Given the description of an element on the screen output the (x, y) to click on. 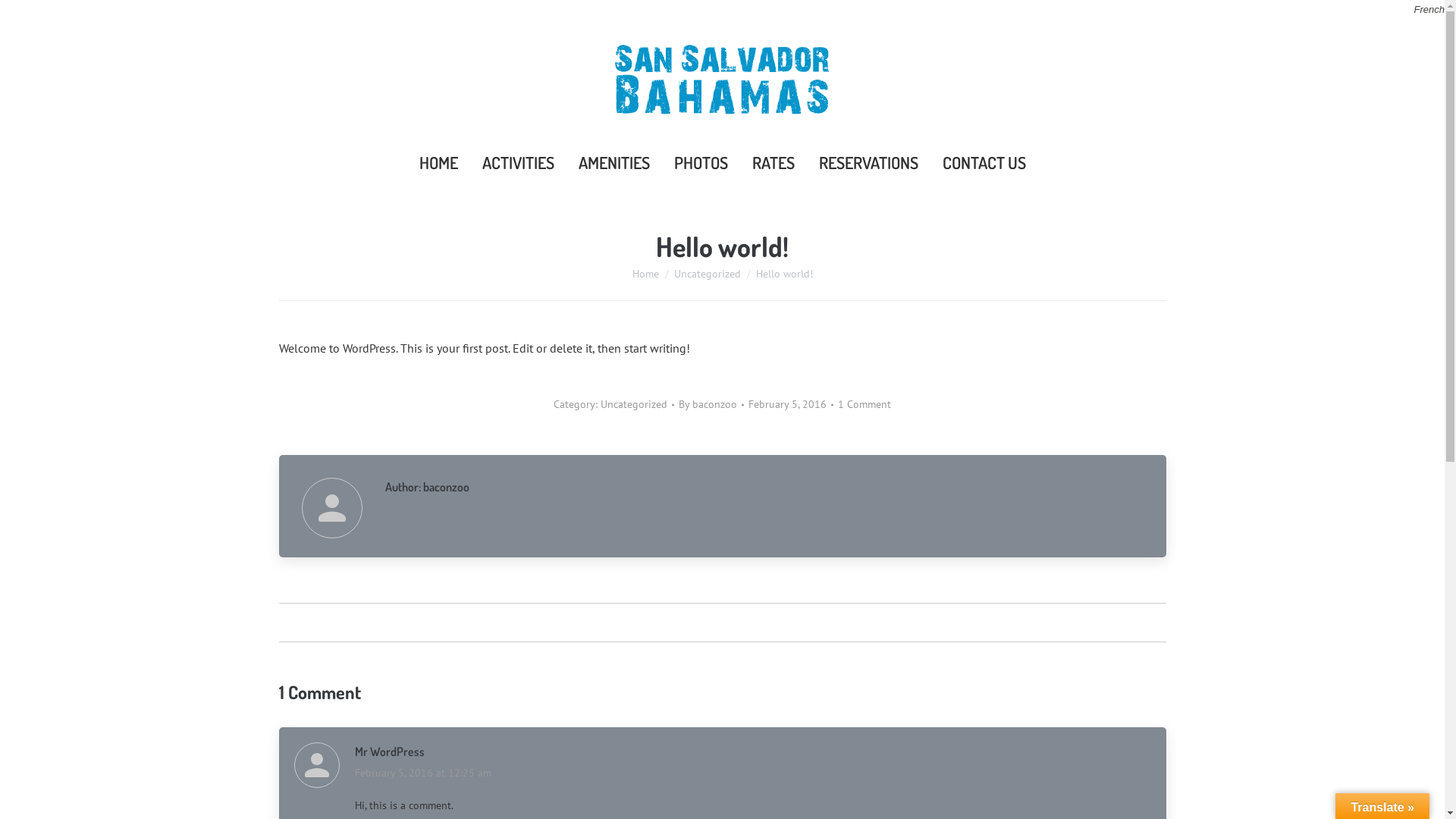
AMENITIES Element type: text (613, 162)
Post Comment Element type: text (52, 16)
Uncategorized Element type: text (706, 273)
February 5, 2016 at 12:25 am Element type: text (422, 772)
RESERVATIONS Element type: text (868, 162)
French Element type: text (1429, 9)
ACTIVITIES Element type: text (518, 162)
February 5, 2016 Element type: text (790, 404)
HOME Element type: text (437, 162)
RATES Element type: text (773, 162)
Home Element type: text (645, 273)
By baconzoo Element type: text (710, 404)
PHOTOS Element type: text (700, 162)
Mr WordPress Element type: text (389, 751)
Uncategorized Element type: text (633, 404)
CONTACT US Element type: text (983, 162)
1 Comment Element type: text (864, 404)
